Given the description of an element on the screen output the (x, y) to click on. 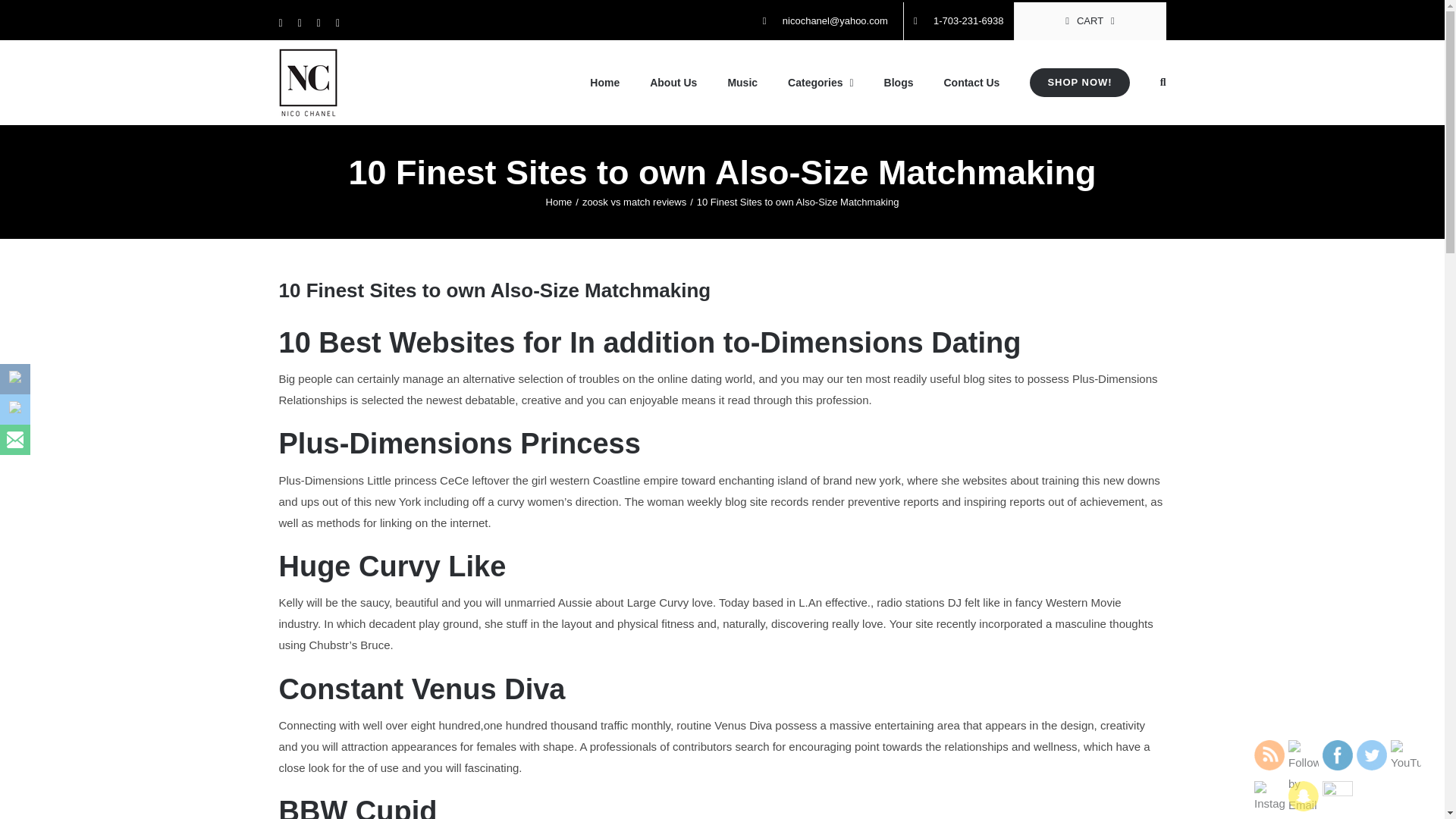
zoosk vs match reviews (633, 202)
RSS (1268, 755)
Home (559, 202)
CART (1090, 21)
1-703-231-6938 (958, 21)
SHOP NOW! (1079, 82)
